Given the description of an element on the screen output the (x, y) to click on. 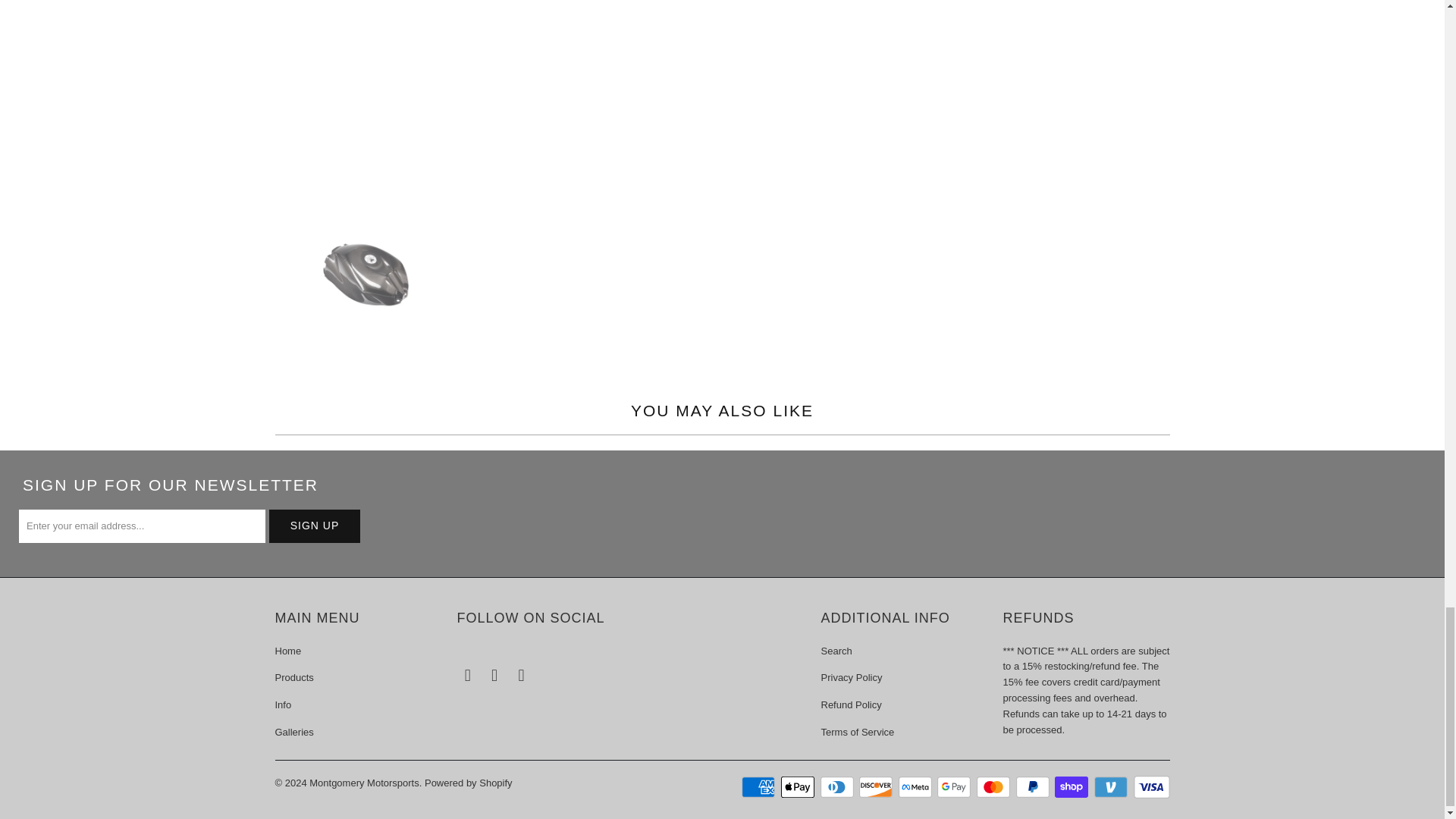
Montgomery Motorsports on Instagram (521, 675)
Venmo (1112, 786)
PayPal (1034, 786)
Sign Up (314, 525)
Shop Pay (1072, 786)
American Express (759, 786)
Montgomery Motorsports on Facebook (468, 675)
Apple Pay (798, 786)
Discover (877, 786)
Mastercard (994, 786)
